Given the description of an element on the screen output the (x, y) to click on. 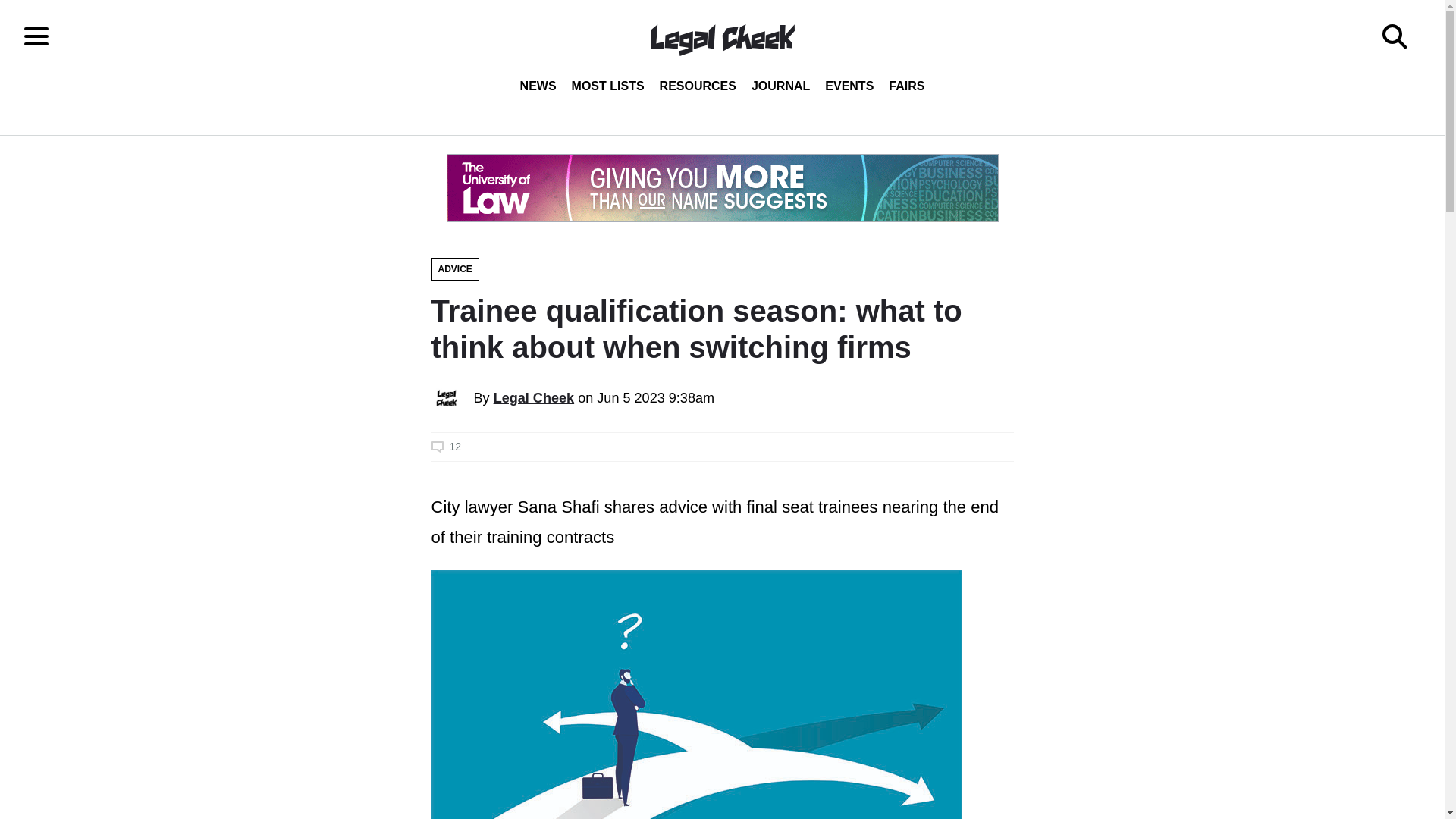
JOURNAL (780, 86)
EVENTS (848, 86)
RESOURCES (698, 86)
12 (721, 446)
NEWS (538, 86)
MOST LISTS (608, 86)
FAIRS (905, 86)
ADVICE (454, 268)
Legal Cheek (534, 397)
advertisement (721, 187)
